Given the description of an element on the screen output the (x, y) to click on. 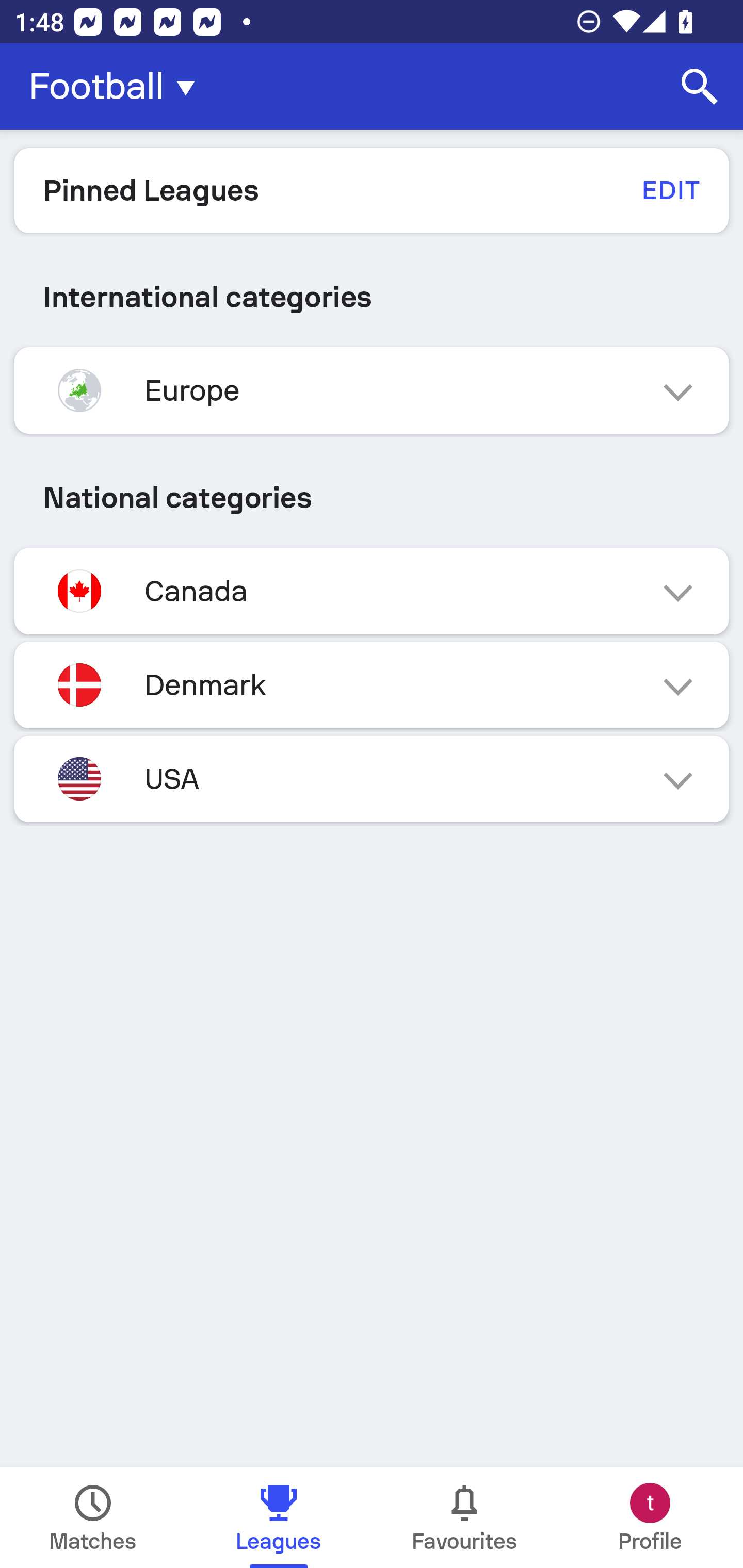
Football (117, 86)
Search (699, 86)
Pinned Leagues EDIT (371, 190)
EDIT (670, 190)
International categories (371, 296)
Europe (371, 390)
National categories (371, 497)
Canada (371, 591)
Denmark (371, 684)
USA (371, 778)
Matches (92, 1517)
Favourites (464, 1517)
Profile (650, 1517)
